Given the description of an element on the screen output the (x, y) to click on. 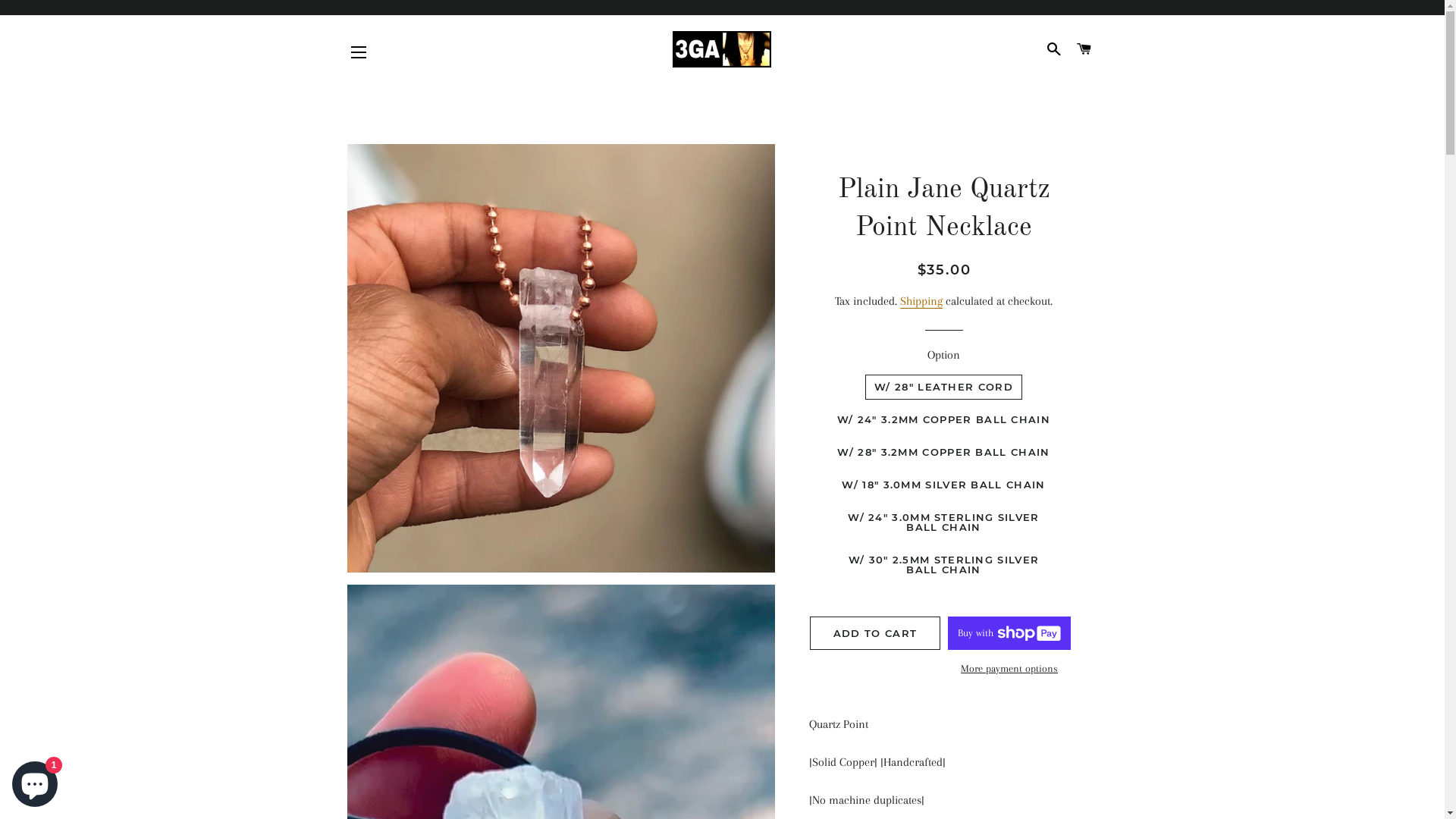
CART Element type: text (1083, 49)
ADD TO CART Element type: text (874, 632)
SEARCH Element type: text (1054, 49)
More payment options Element type: text (1008, 668)
SITE NAVIGATION Element type: text (358, 52)
Shopify online store chat Element type: hover (34, 780)
Shipping Element type: text (921, 301)
